Given the description of an element on the screen output the (x, y) to click on. 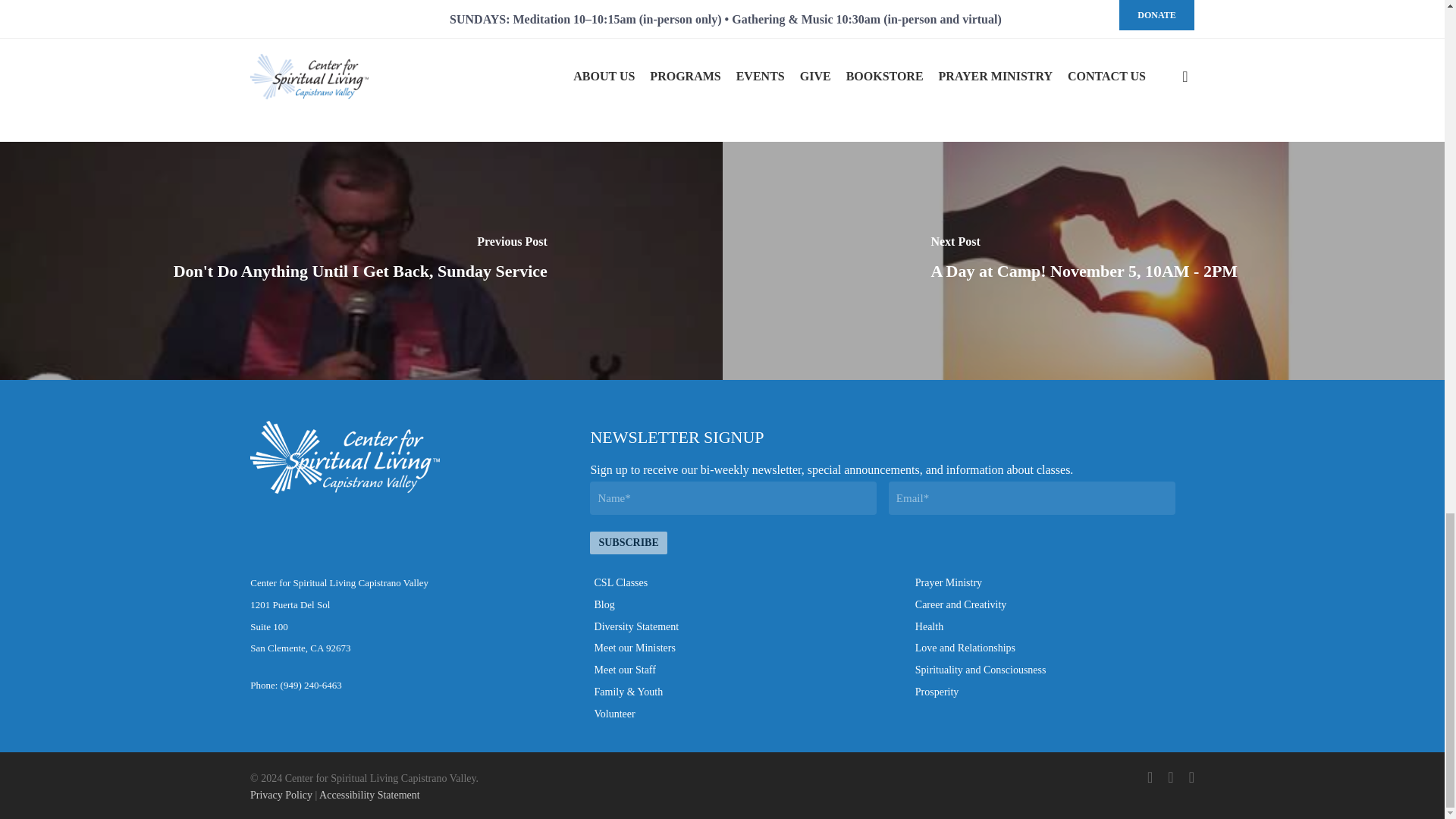
Love and Relationships (964, 647)
Prosperity (937, 691)
Privacy Policy (281, 794)
Diversity Statement (636, 626)
Accessibility Statement (369, 794)
Meet our Ministers (634, 647)
Subscribe (627, 542)
CSL Classes (620, 582)
Health (929, 626)
Subscribe (627, 542)
